Given the description of an element on the screen output the (x, y) to click on. 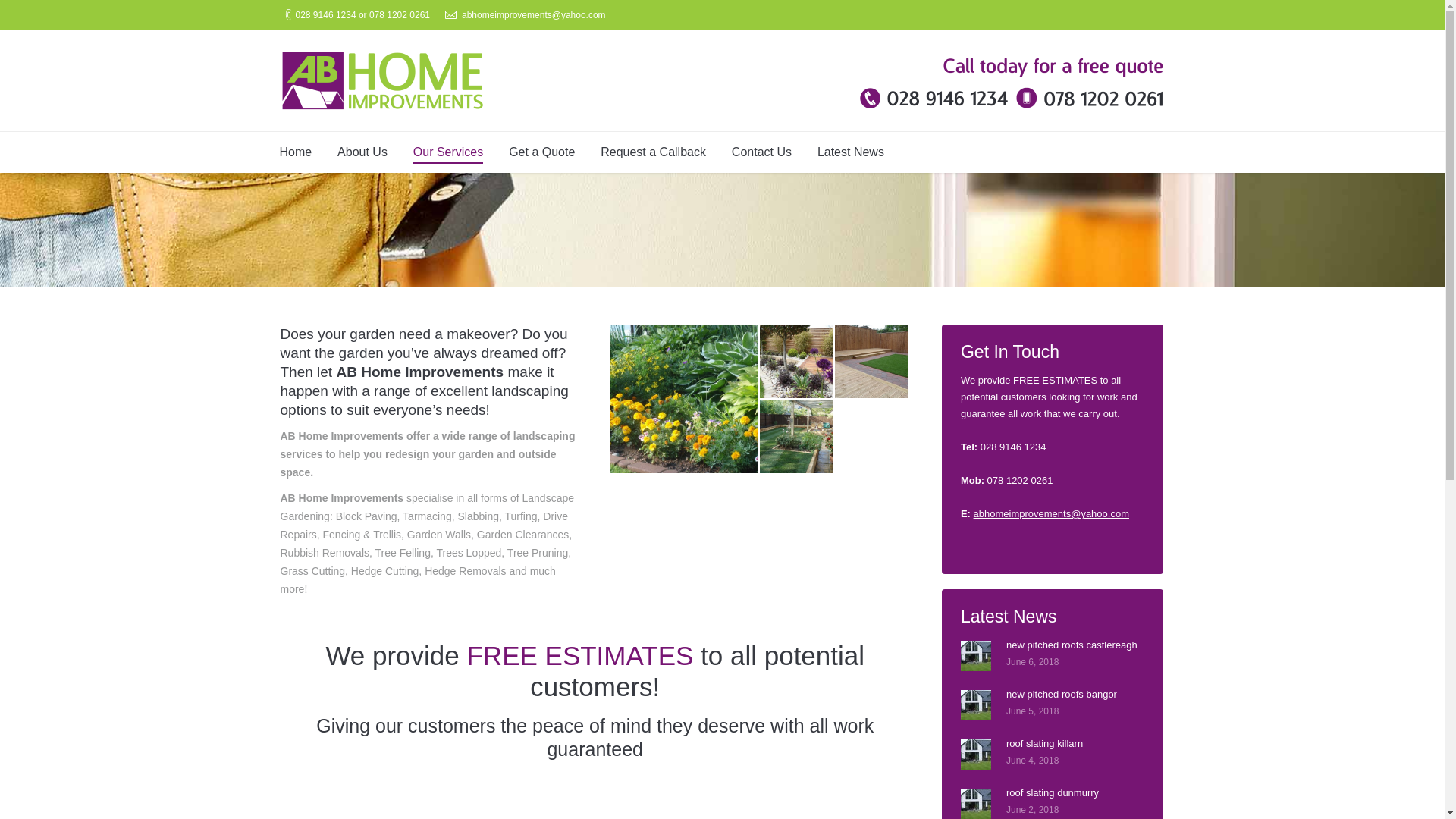
Request a Callback (652, 152)
Latest News (850, 152)
Gardens by AB Home Improvements (685, 398)
Gardens by AB Home Improvements (872, 361)
Gardens by AB Home Improvements (797, 437)
Our Services (447, 152)
Contact Us (761, 152)
About Us (362, 152)
Get a Quote (541, 152)
Home (296, 152)
Gardens by AB Home Improvements (797, 361)
